Given the description of an element on the screen output the (x, y) to click on. 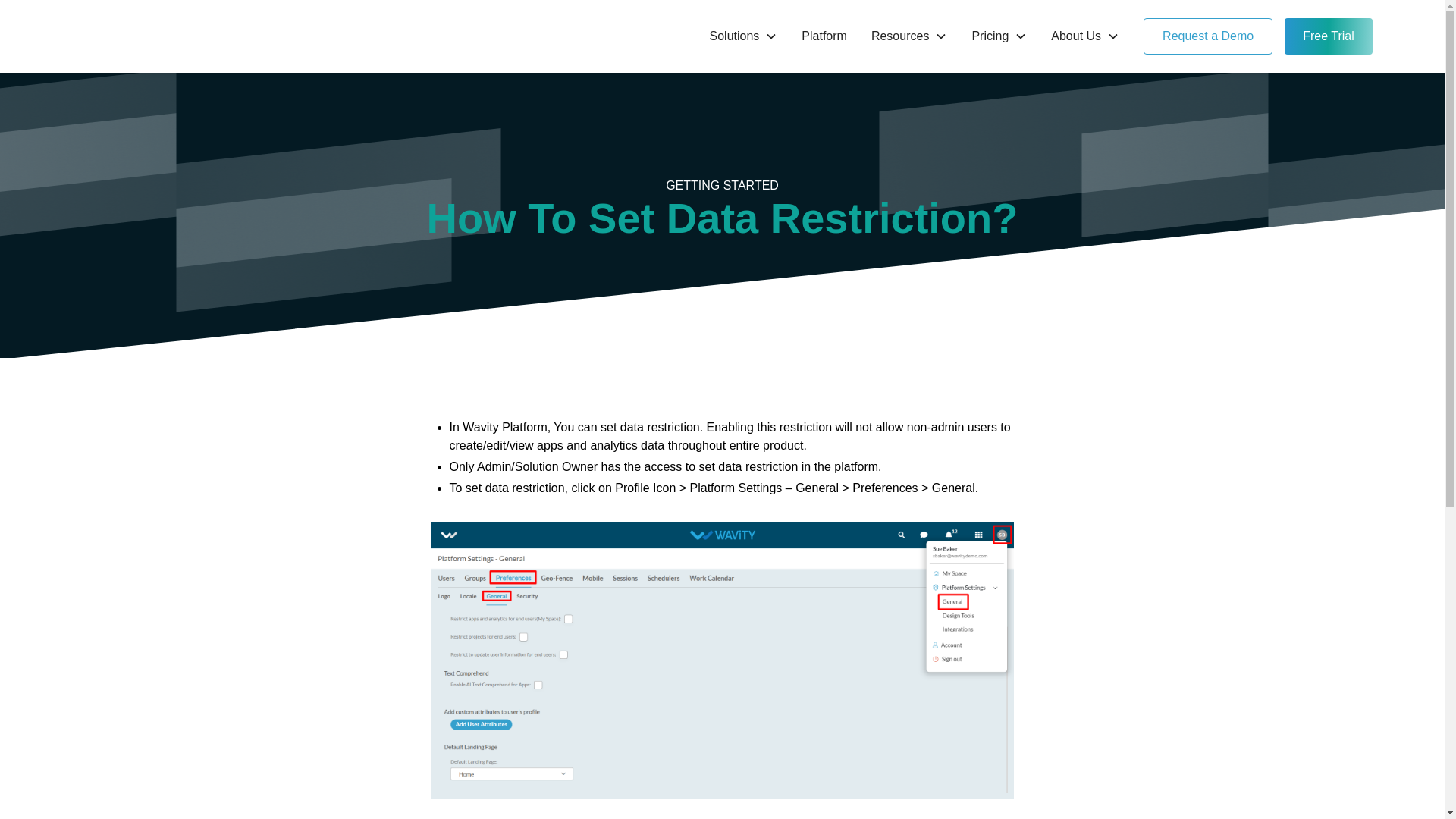
Platform (824, 36)
Free Trial (1328, 36)
Request a Demo (1207, 36)
